Given the description of an element on the screen output the (x, y) to click on. 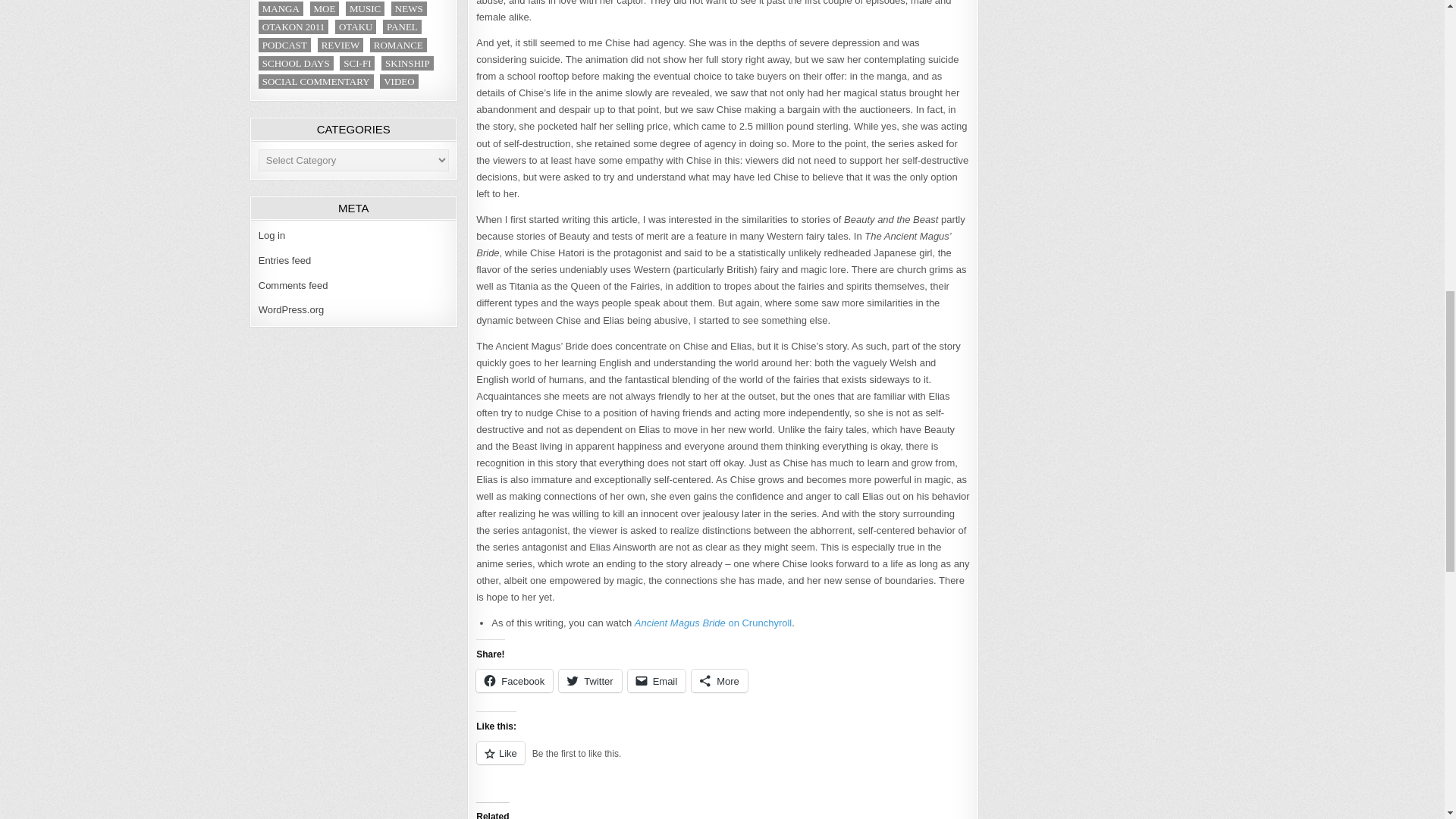
Like or Reblog (722, 761)
Click to email a link to a friend (656, 680)
Click to share on Facebook (514, 680)
Click to share on Twitter (590, 680)
